Given the description of an element on the screen output the (x, y) to click on. 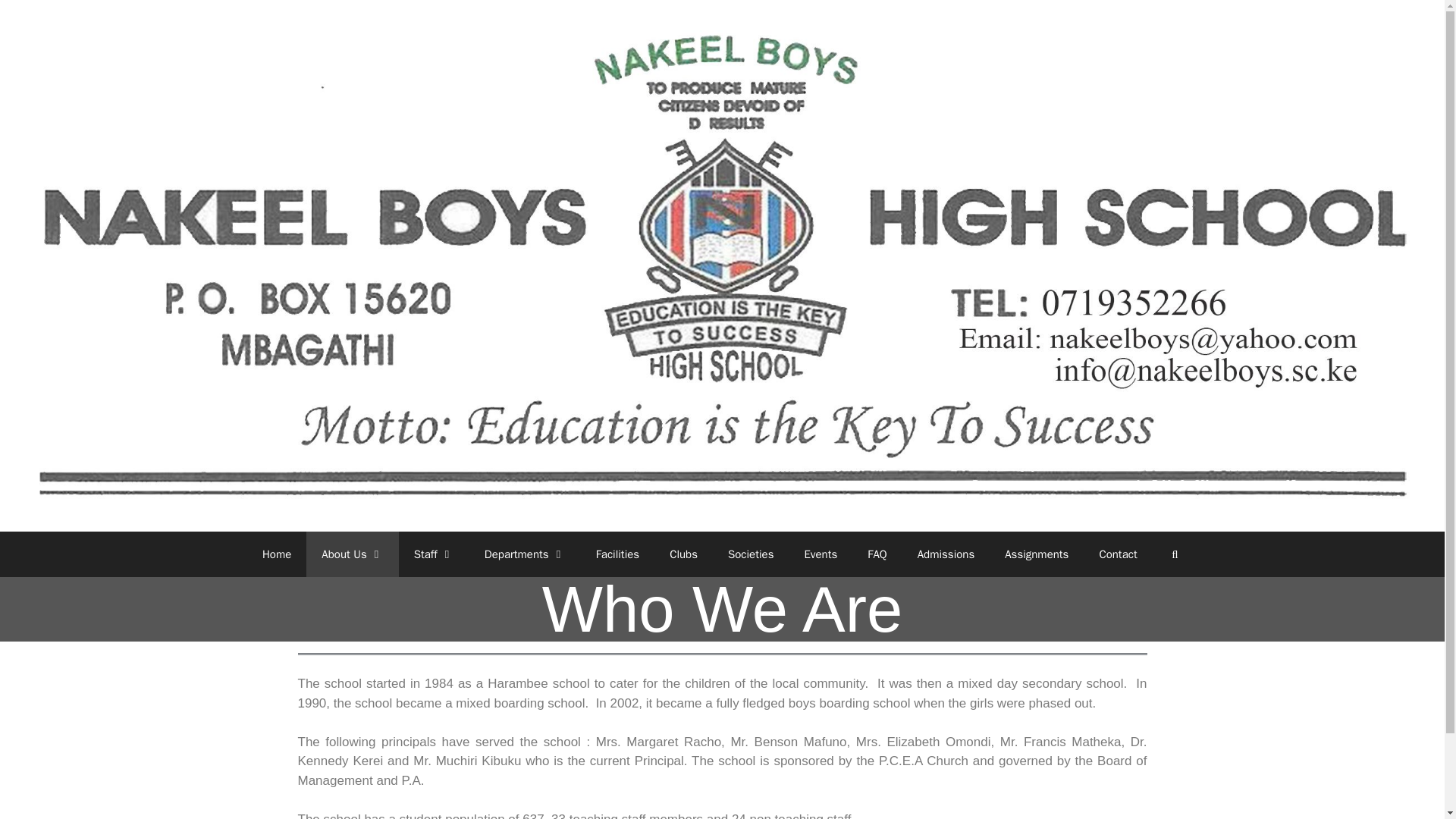
Home (276, 554)
Societies (751, 554)
Search (1174, 554)
Admissions (946, 554)
About Us (351, 554)
Staff (433, 554)
Search (1174, 554)
Departments (524, 554)
Nakeel Boys High School (721, 264)
Facilities (617, 554)
Clubs (683, 554)
Assignments (1036, 554)
Contact (1117, 554)
Events (820, 554)
